Given the description of an element on the screen output the (x, y) to click on. 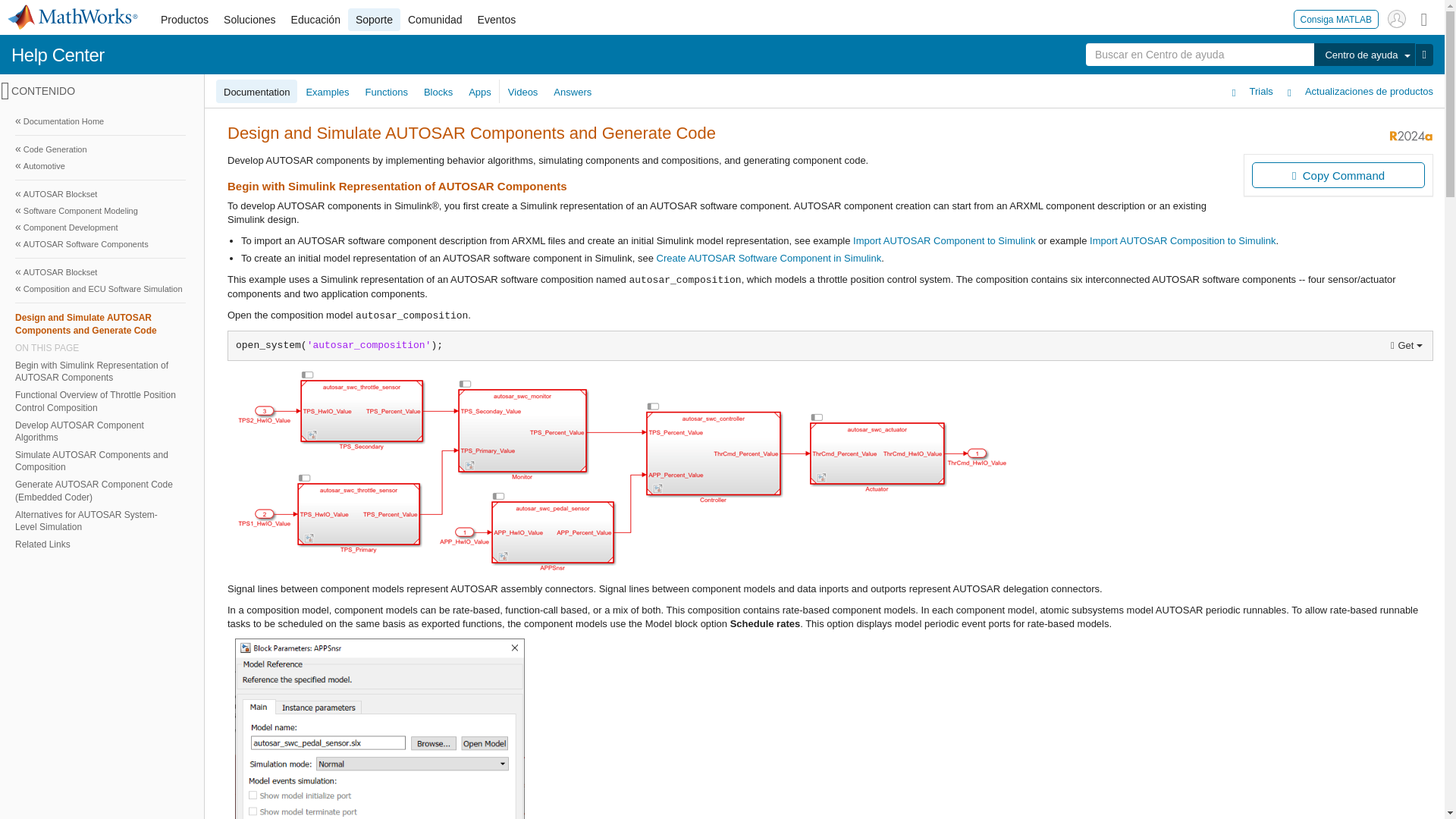
Productos (183, 19)
Comunidad (435, 19)
Consiga MATLAB (1336, 18)
Matrix Menu (1423, 18)
Eventos (497, 19)
ON THIS PAGE (100, 347)
Soporte (373, 19)
Design and Simulate AUTOSAR Components and Generate Code (100, 323)
Soluciones (249, 19)
